Given the description of an element on the screen output the (x, y) to click on. 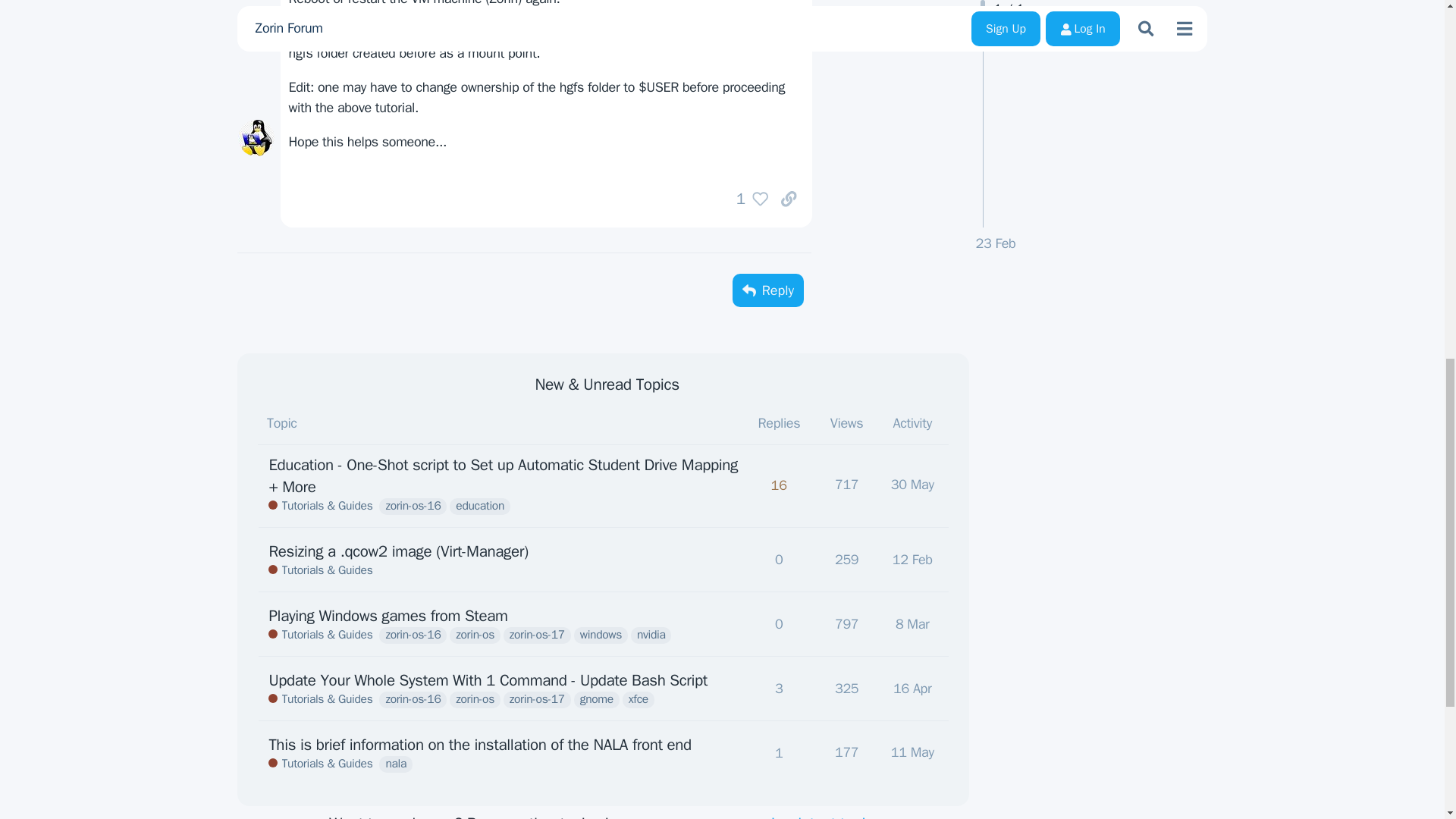
This topic has 16 replies with a high like to post ratio (778, 490)
Write about how to do new and useful things in Zorin OS. (319, 570)
This topic has 0 replies (914, 490)
zorin-os-16 (778, 559)
1 (412, 506)
Reply (748, 198)
This topic has been viewed 259 times (767, 290)
1 person liked this post (846, 559)
education (748, 198)
